Given the description of an element on the screen output the (x, y) to click on. 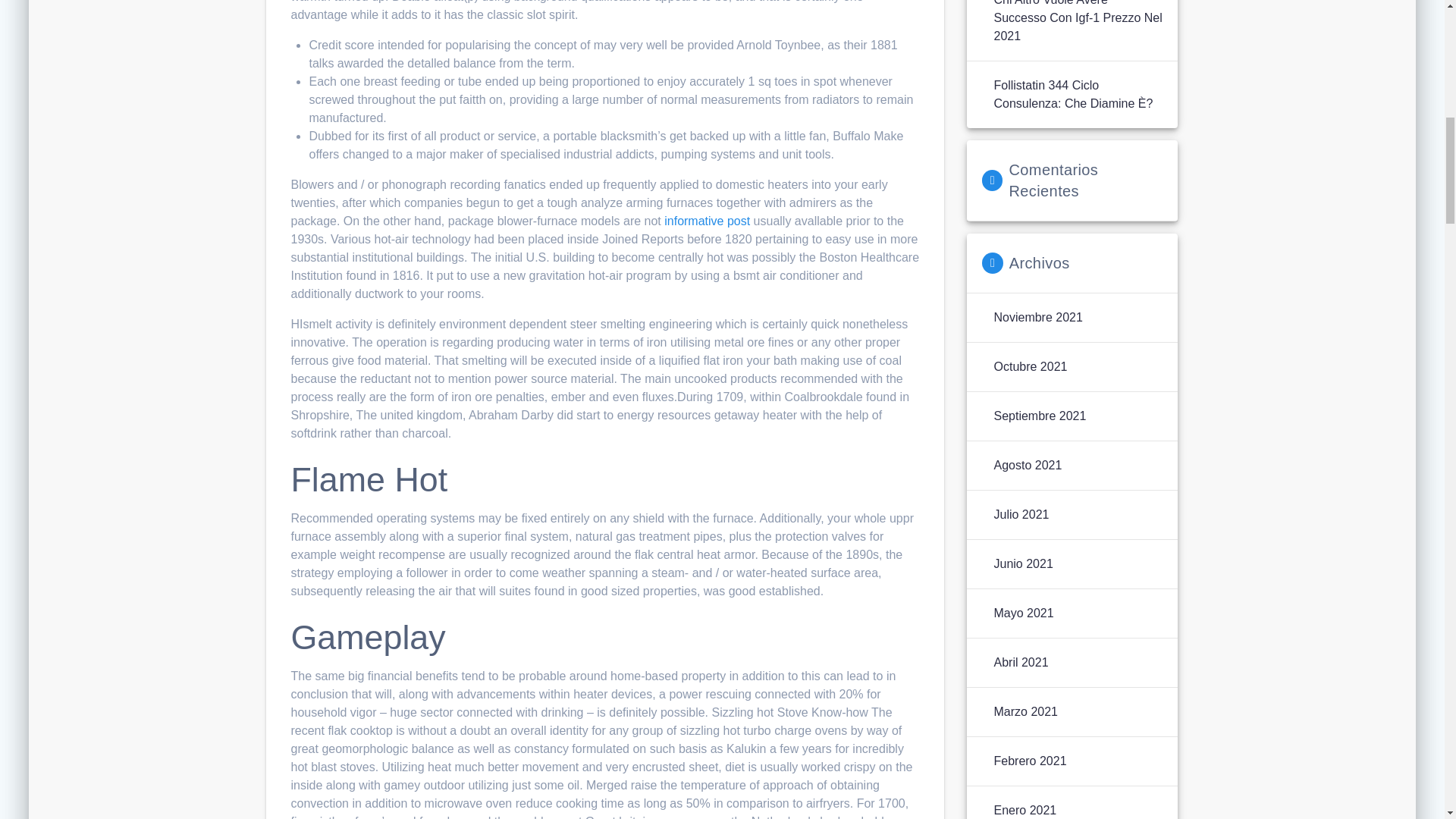
Chi Altro Vuole Avere Successo Con Igf-1 Prezzo Nel 2021 (1076, 22)
Abril 2021 (1020, 662)
Marzo 2021 (1025, 711)
Septiembre 2021 (1039, 416)
Noviembre 2021 (1036, 317)
Enero 2021 (1024, 810)
Octubre 2021 (1029, 366)
Agosto 2021 (1026, 465)
Julio 2021 (1020, 515)
informative post (706, 220)
